Given the description of an element on the screen output the (x, y) to click on. 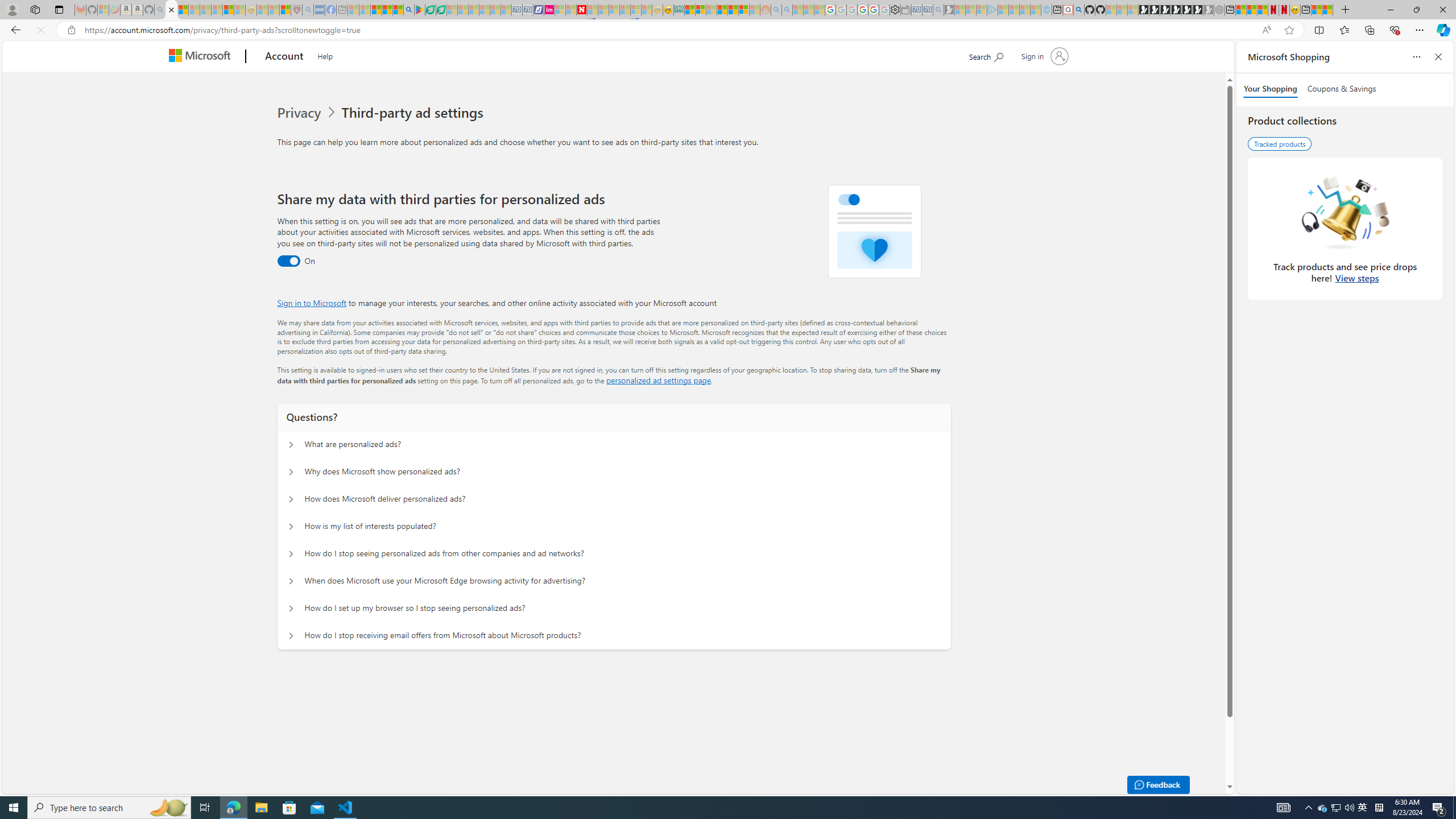
Kinda Frugal - MSN (733, 9)
github - Search (1078, 9)
Questions? How is my list of interests populated? (290, 526)
